Given the description of an element on the screen output the (x, y) to click on. 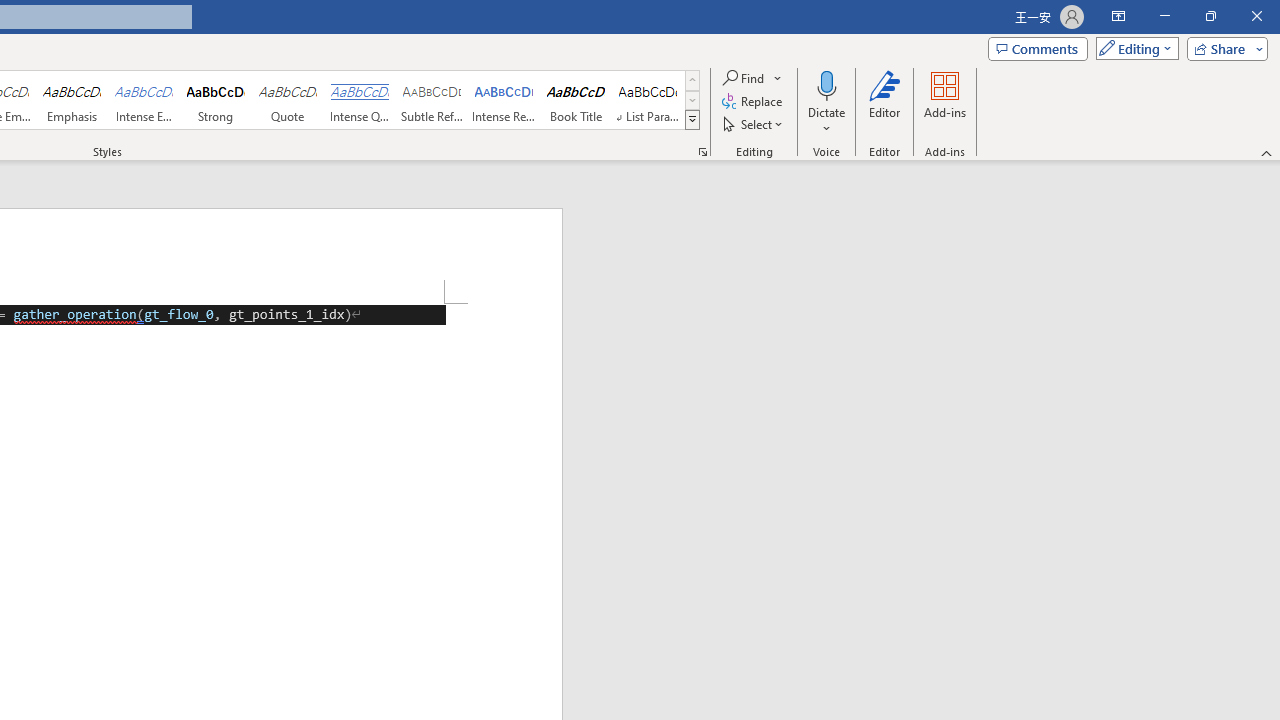
Book Title (575, 100)
Intense Emphasis (143, 100)
Intense Reference (504, 100)
